Given the description of an element on the screen output the (x, y) to click on. 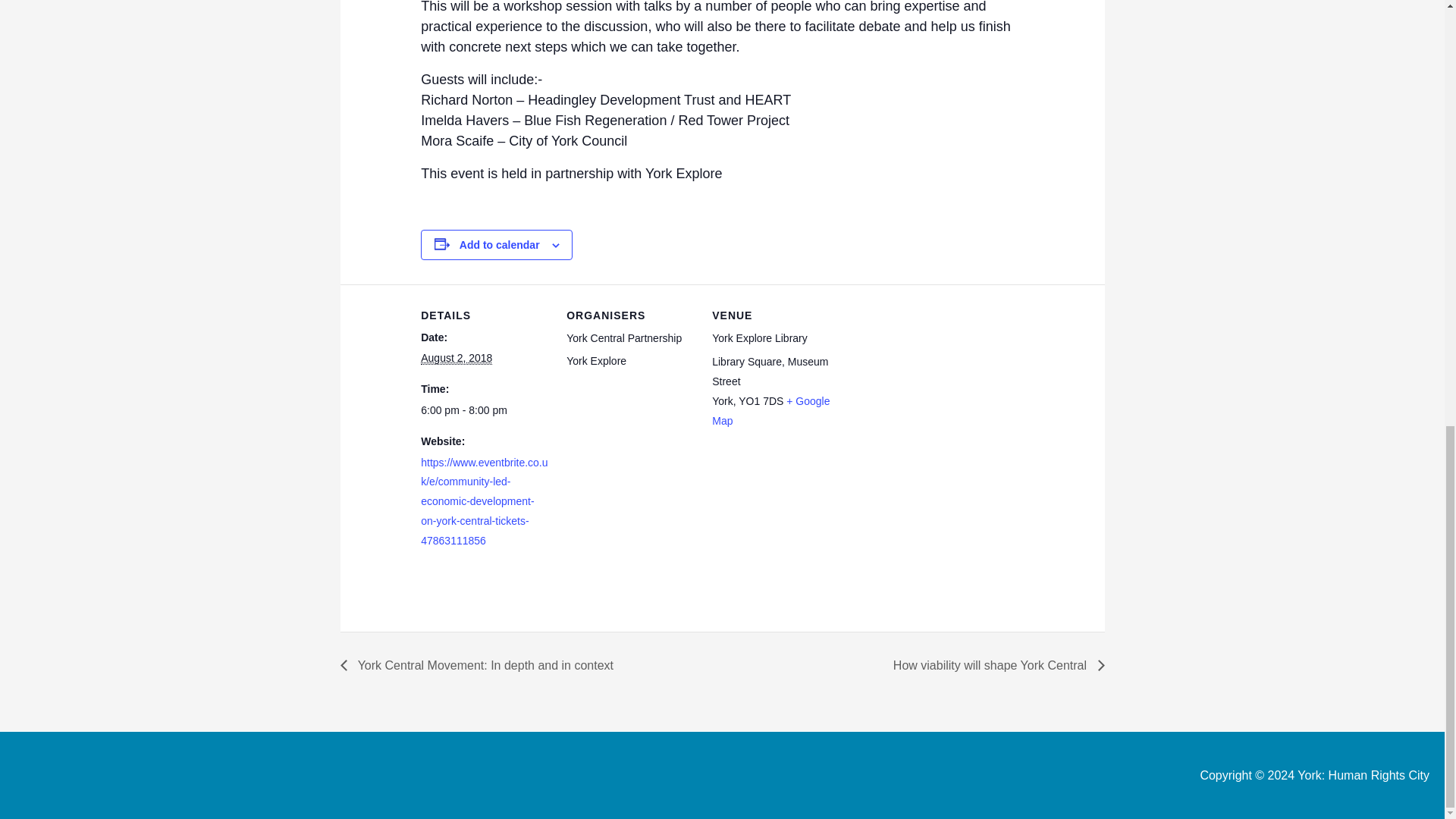
Add to calendar (500, 244)
2018-08-02 (484, 410)
2018-08-02 (456, 358)
